Given the description of an element on the screen output the (x, y) to click on. 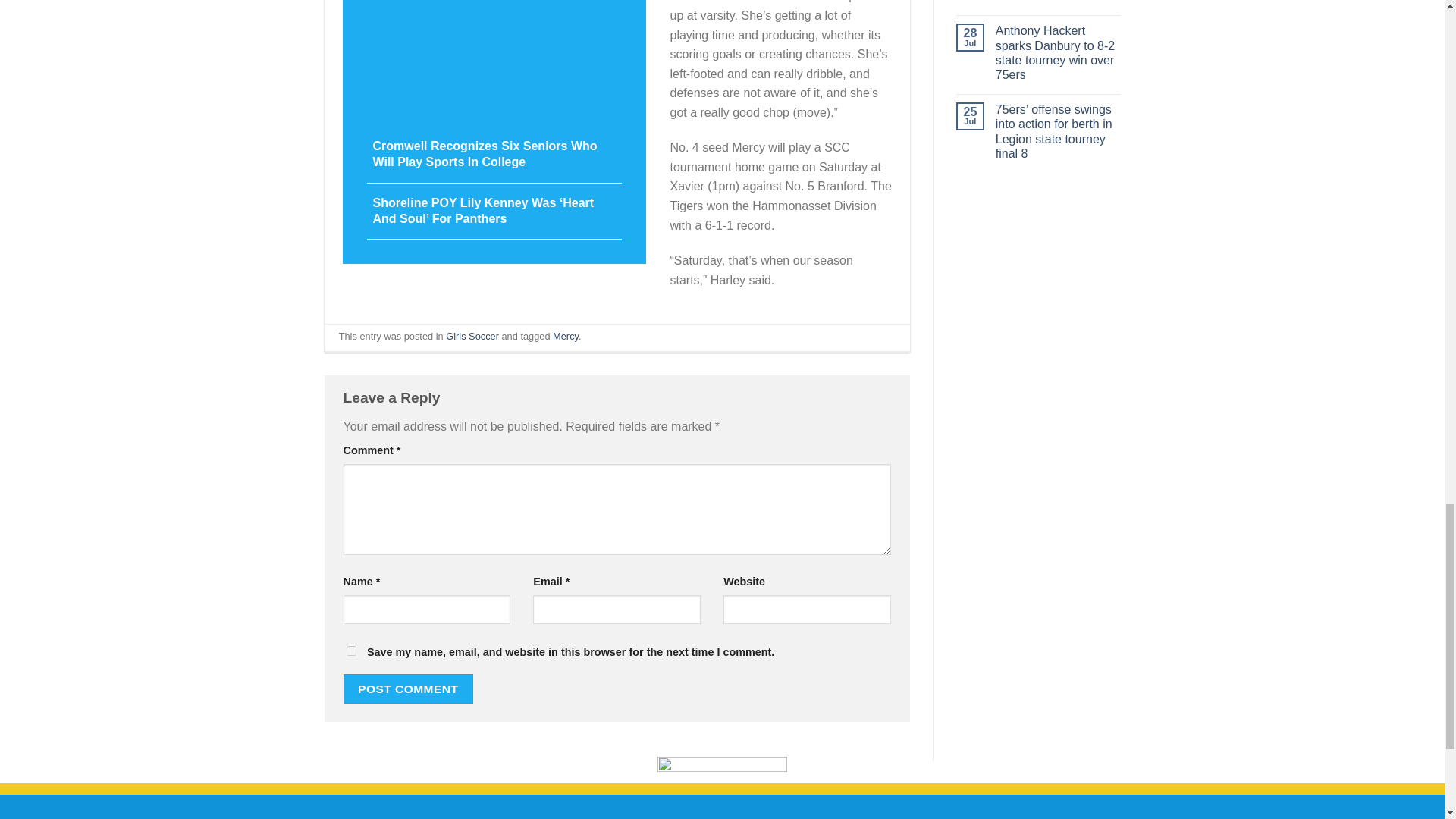
yes (350, 651)
Post Comment (407, 688)
